Given the description of an element on the screen output the (x, y) to click on. 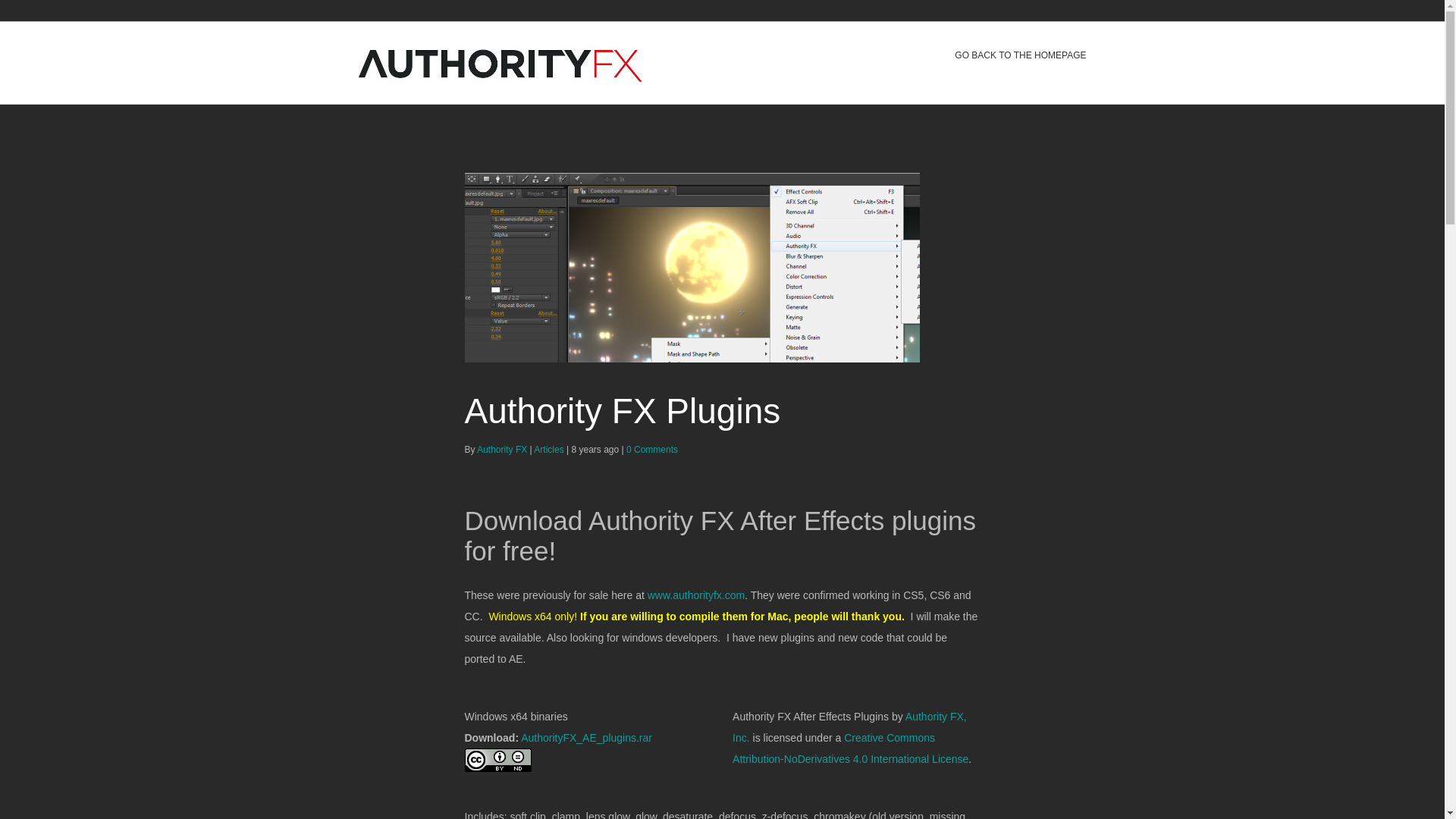
Posts by Authority FX (502, 448)
0 Comments (652, 437)
Articles (548, 436)
GO BACK TO THE HOMEPAGE (1020, 54)
www.authorityfx.com (695, 584)
Authority FX, Inc. (849, 719)
Authority FX (502, 434)
